Given the description of an element on the screen output the (x, y) to click on. 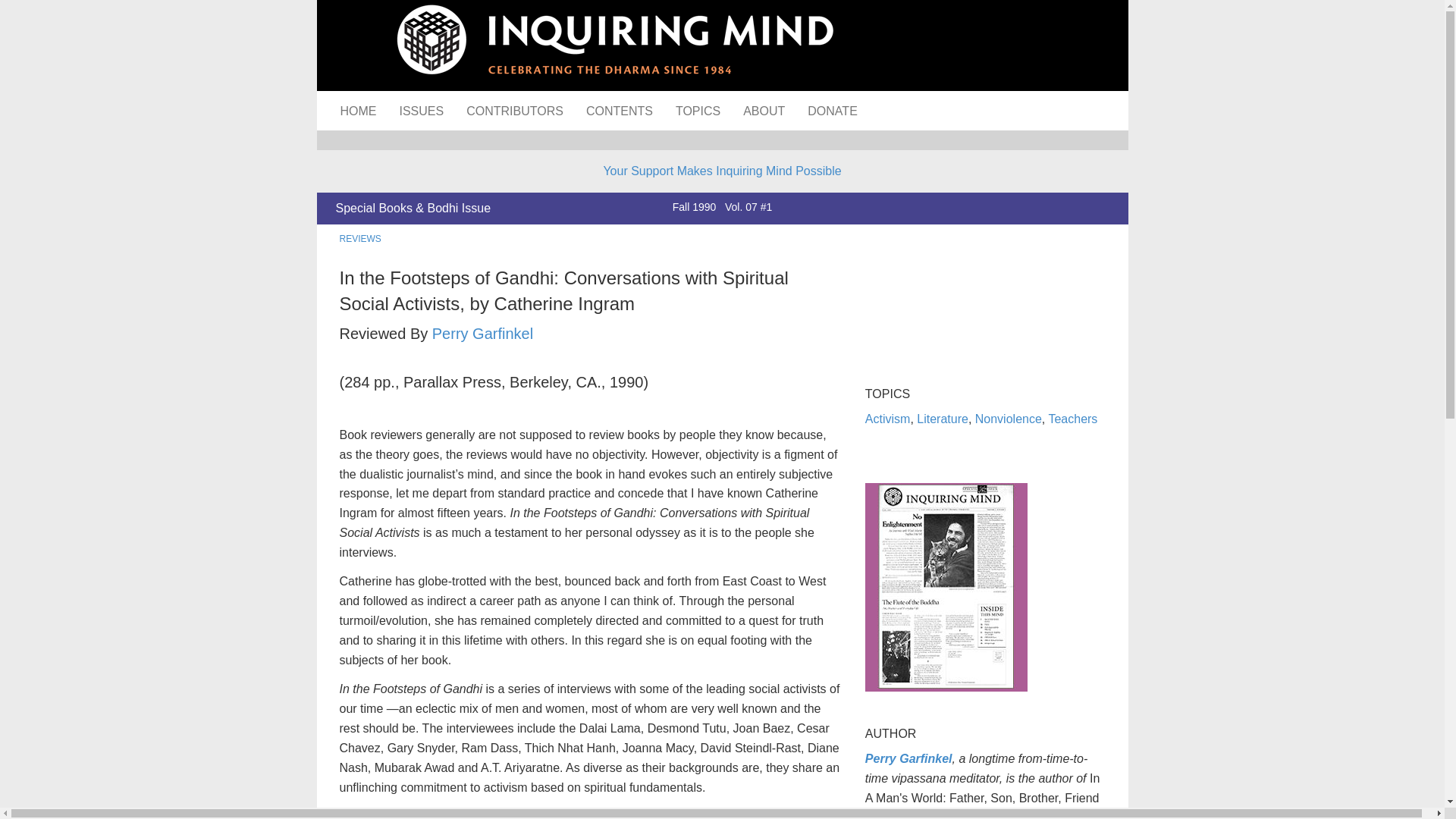
TOPICS (697, 110)
Your Support Makes Inquiring Mind Possible (721, 170)
Teachers (1072, 418)
CONTRIBUTORS (514, 110)
DONATE (831, 110)
Perry Garfinkel (908, 758)
ABOUT (764, 110)
Perry Garfinkel (482, 333)
HOME (358, 110)
REVIEWS (360, 238)
Nonviolence (1008, 418)
CONTENTS (619, 110)
ISSUES (421, 110)
Literature (942, 418)
Activism (887, 418)
